Given the description of an element on the screen output the (x, y) to click on. 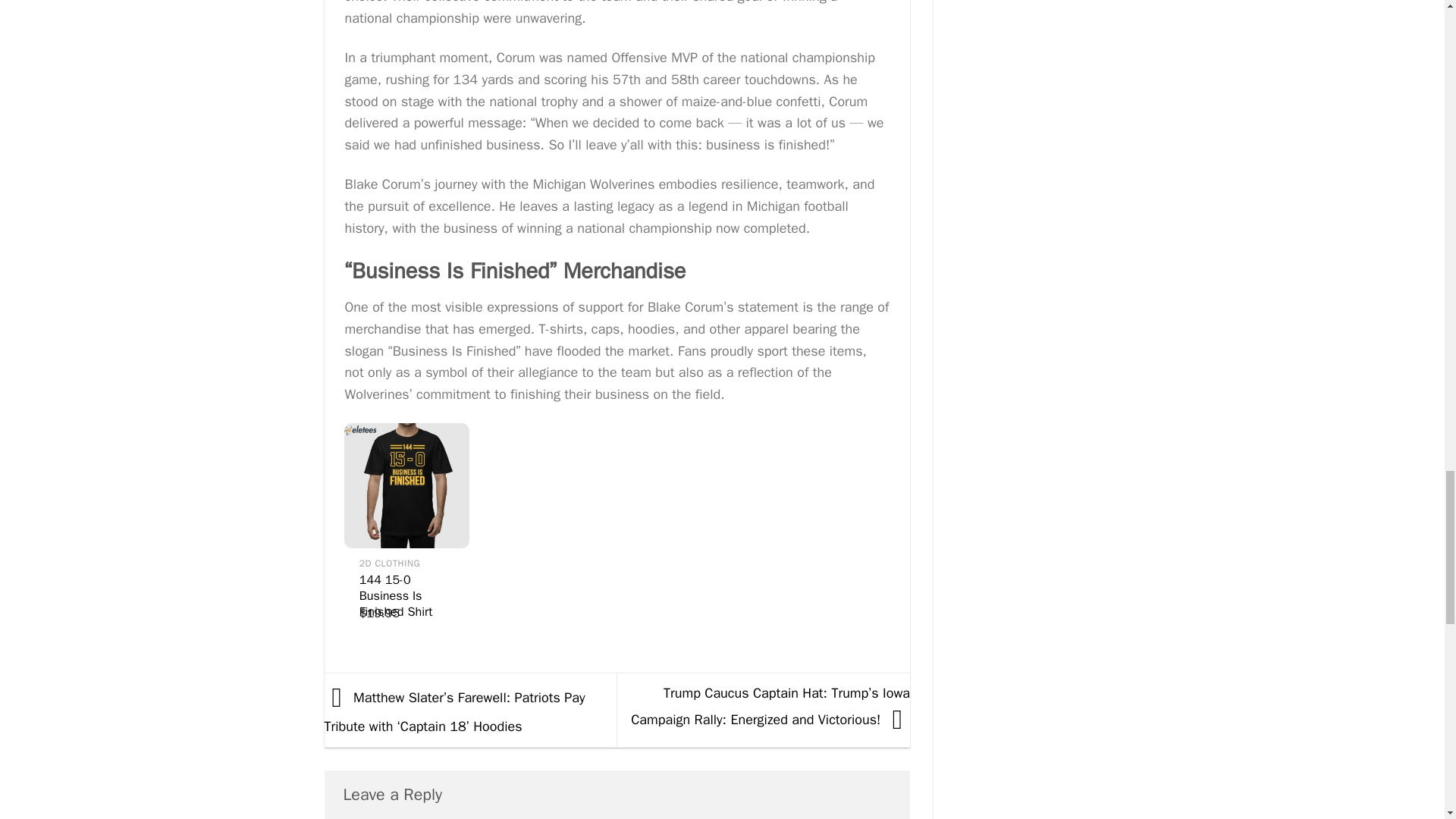
144 15-0 Business Is Finished Shirt (405, 485)
